Given the description of an element on the screen output the (x, y) to click on. 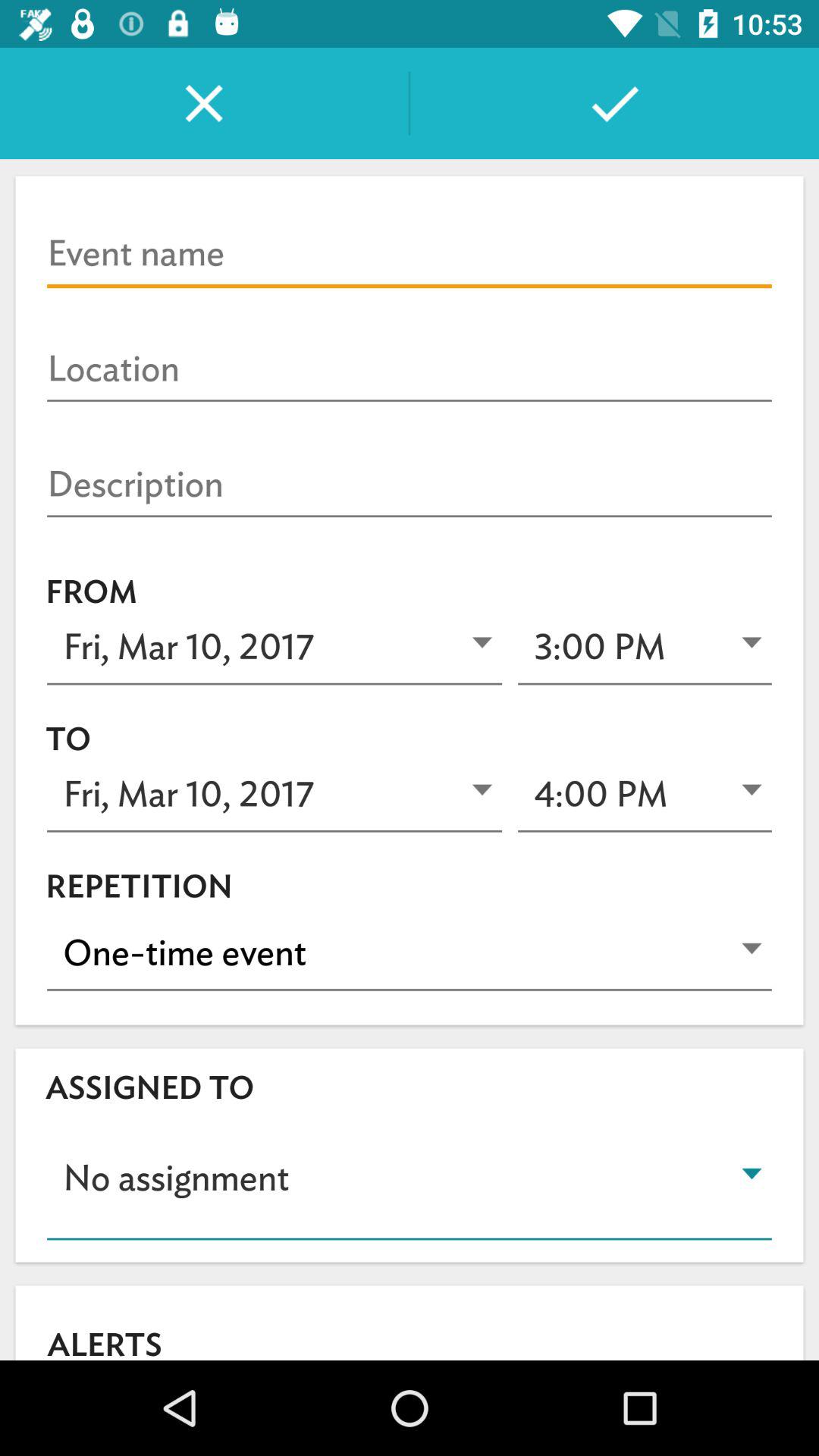
location entry (409, 369)
